Given the description of an element on the screen output the (x, y) to click on. 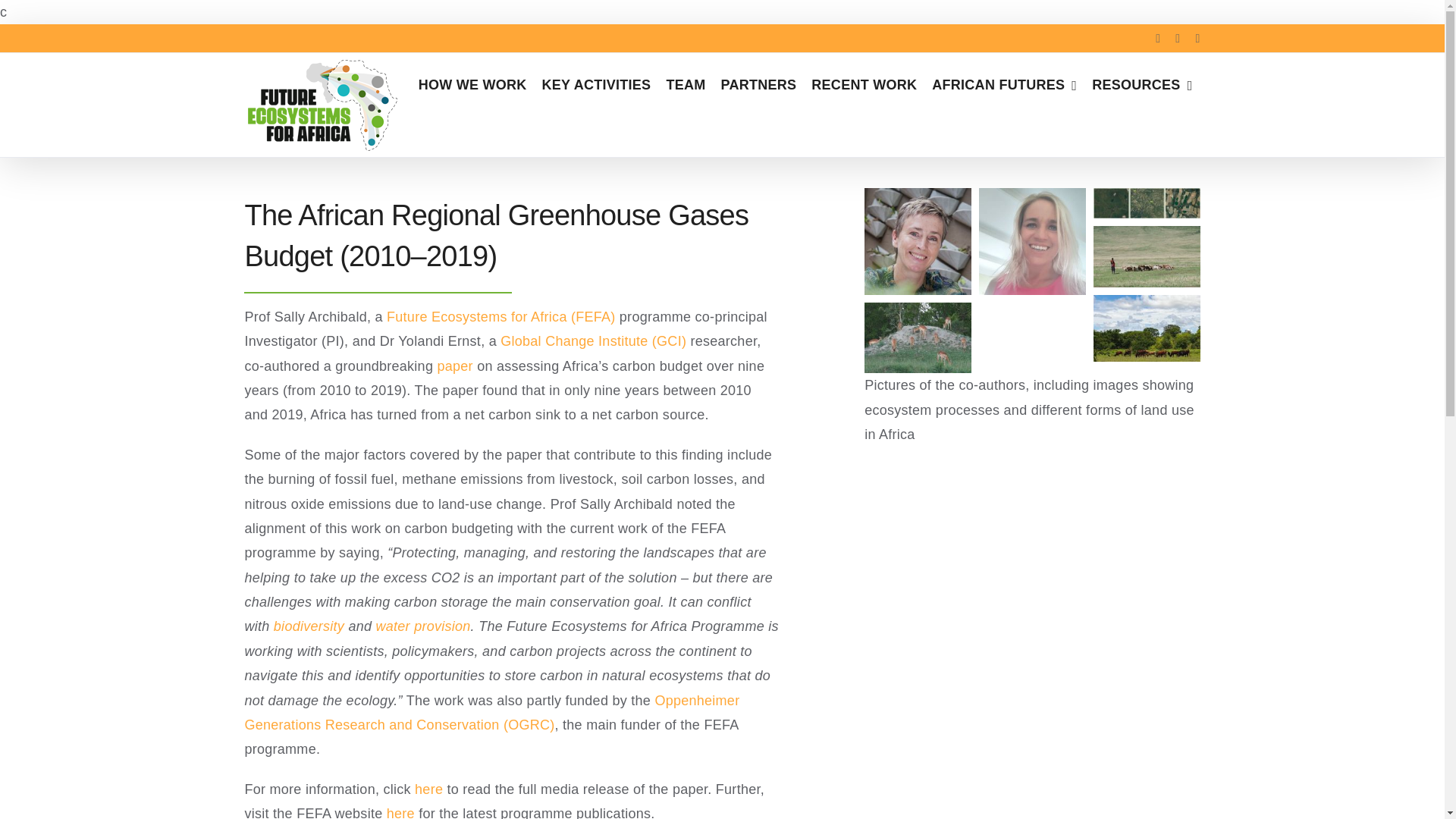
RECENT WORK (863, 85)
sally (917, 241)
HOW WE WORK (472, 85)
AFRICAN FUTURES (1004, 85)
RESOURCES (1141, 85)
yolani (1032, 241)
KEY ACTIVITIES (596, 85)
PARTNERS (758, 85)
